Given the description of an element on the screen output the (x, y) to click on. 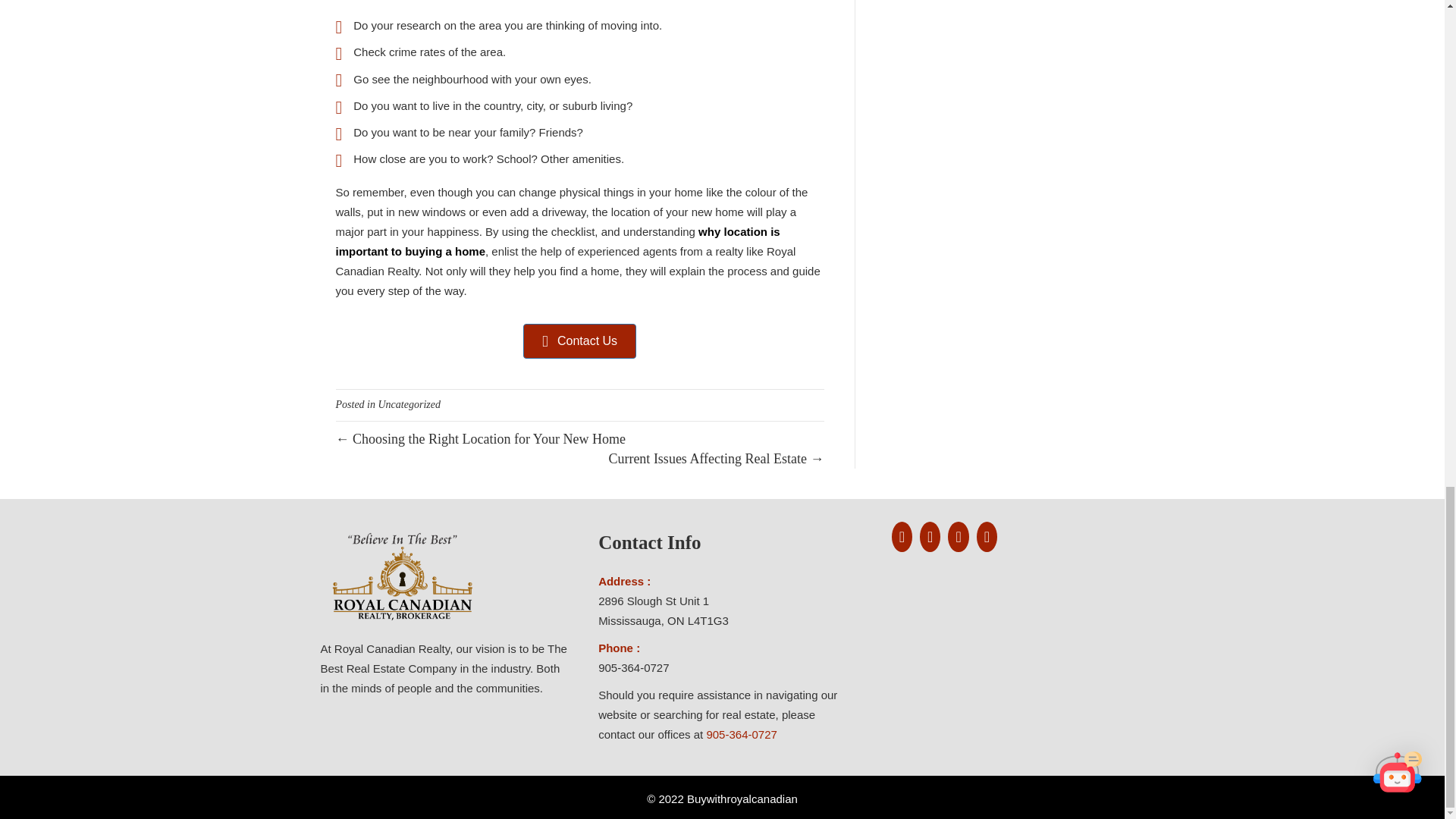
logo (401, 576)
why location is important to buying a home (556, 241)
Contact Us (579, 341)
Uncategorized (408, 404)
